Given the description of an element on the screen output the (x, y) to click on. 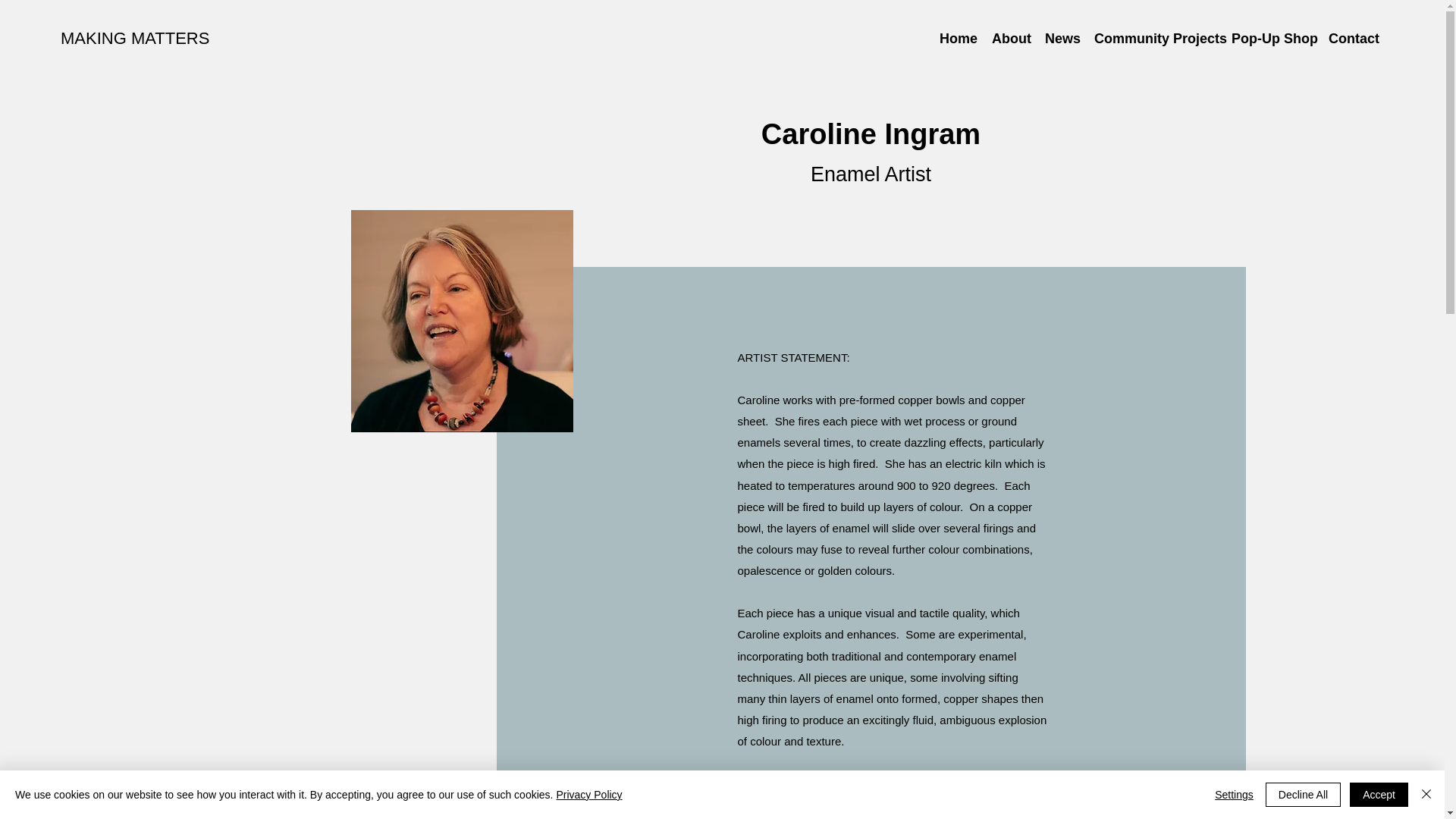
Contact (1352, 37)
Pop-Up Shop (1272, 37)
Privacy Policy (588, 794)
About (1010, 37)
Accept (1378, 794)
Home (957, 37)
News (1061, 37)
MAKING MATTERS (135, 37)
Community Projects (1155, 37)
Decline All (1302, 794)
